Given the description of an element on the screen output the (x, y) to click on. 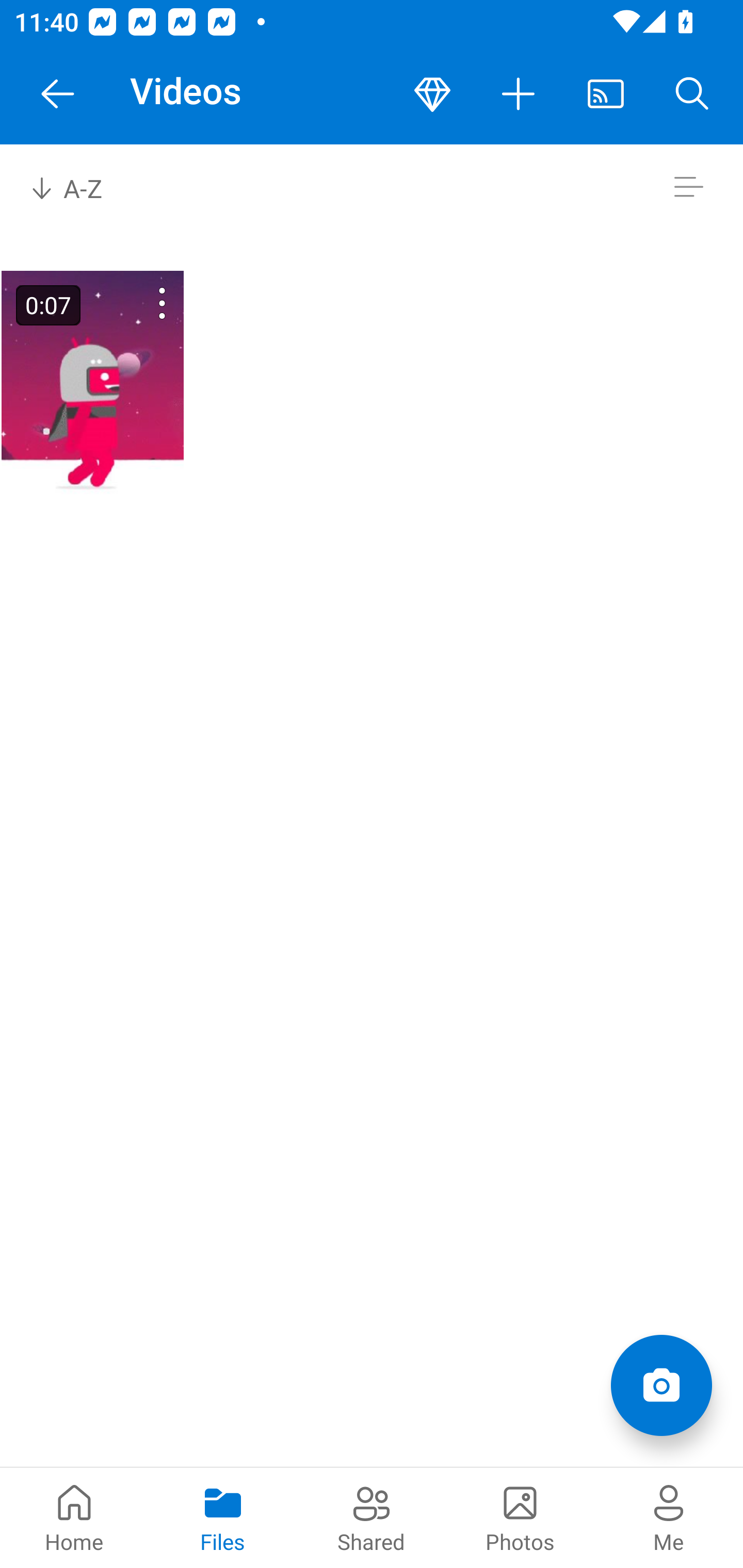
Navigate Up (57, 93)
Cast. Disconnected (605, 93)
Premium button (432, 93)
More actions button (518, 93)
Search button (692, 93)
A-Z Sort by combo box, sort by name, A to Z (80, 187)
Switch to list view (688, 187)
VID_20240428_112341 commands (136, 303)
Add items Scan (660, 1385)
Home pivot Home (74, 1517)
Shared pivot Shared (371, 1517)
Photos pivot Photos (519, 1517)
Me pivot Me (668, 1517)
